Given the description of an element on the screen output the (x, y) to click on. 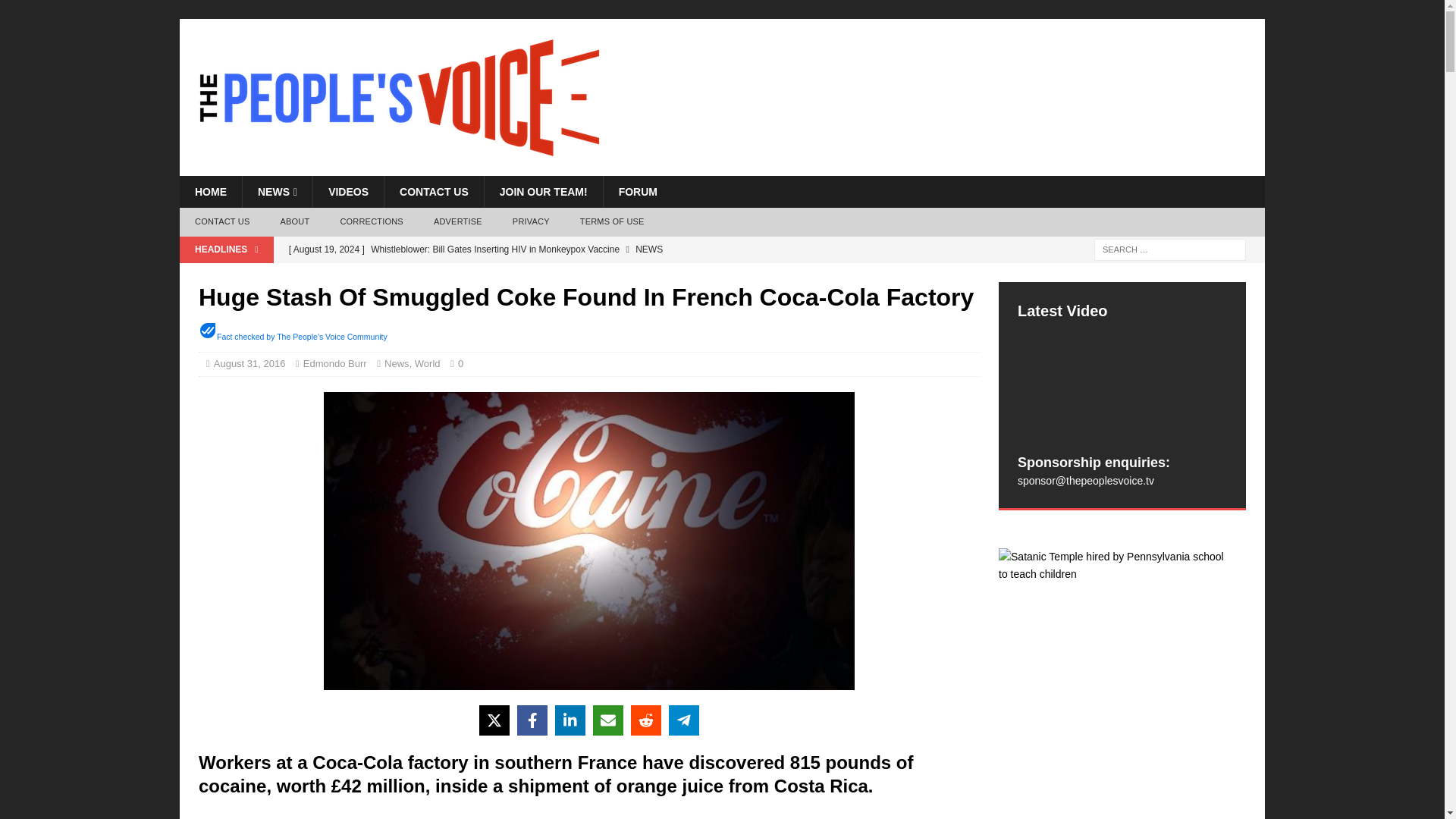
CONTACT US (433, 192)
PRIVACY (530, 222)
CONTACT US (221, 222)
TERMS OF USE (611, 222)
NEWS (277, 192)
HOME (210, 192)
JOIN OUR TEAM! (542, 192)
FORUM (637, 192)
ABOUT (294, 222)
ADVERTISE (458, 222)
